Given the description of an element on the screen output the (x, y) to click on. 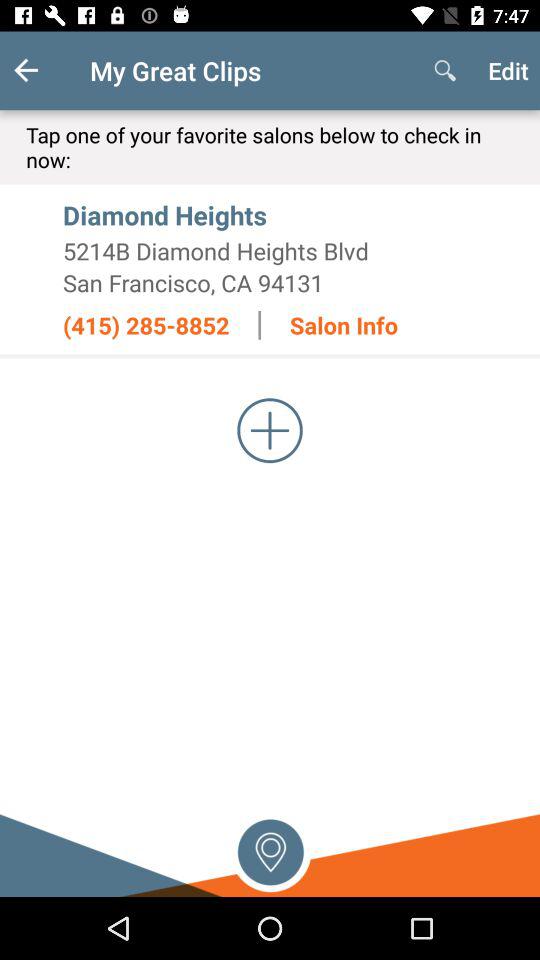
pin location (270, 850)
